Given the description of an element on the screen output the (x, y) to click on. 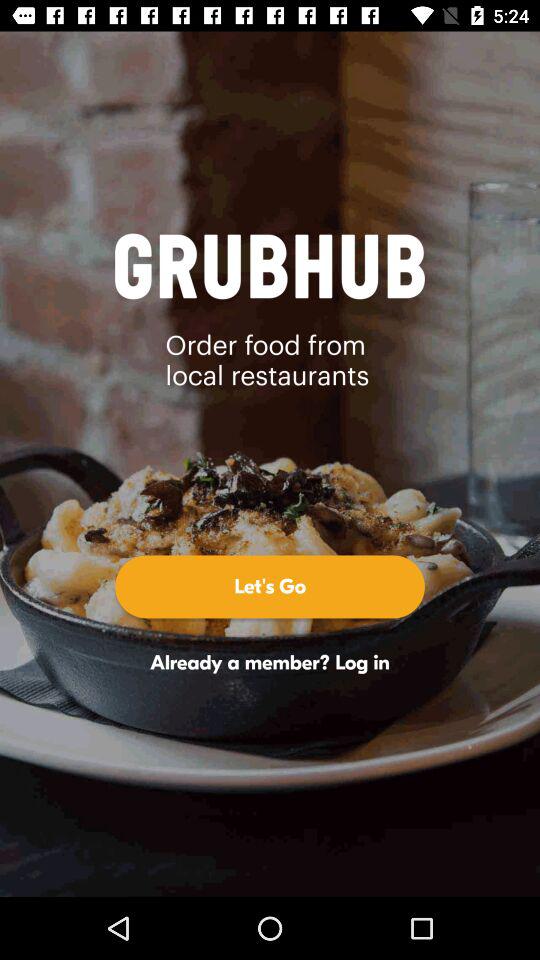
jump to let's go item (269, 586)
